Given the description of an element on the screen output the (x, y) to click on. 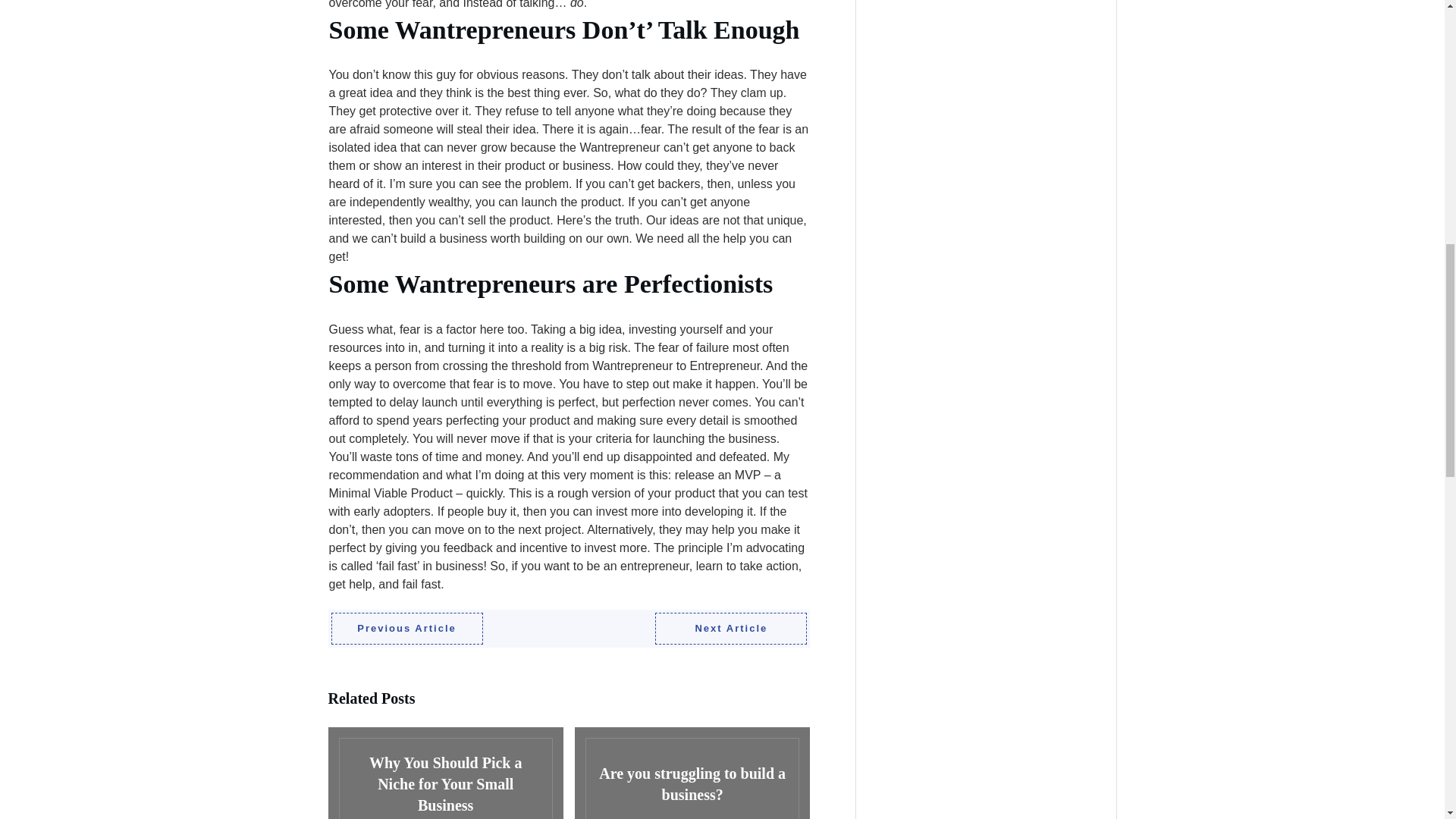
Next Article (730, 628)
Previous Article (405, 628)
Are you struggling to build a business? (692, 773)
Why You Should Pick a Niche for Your Small Business (444, 773)
